Given the description of an element on the screen output the (x, y) to click on. 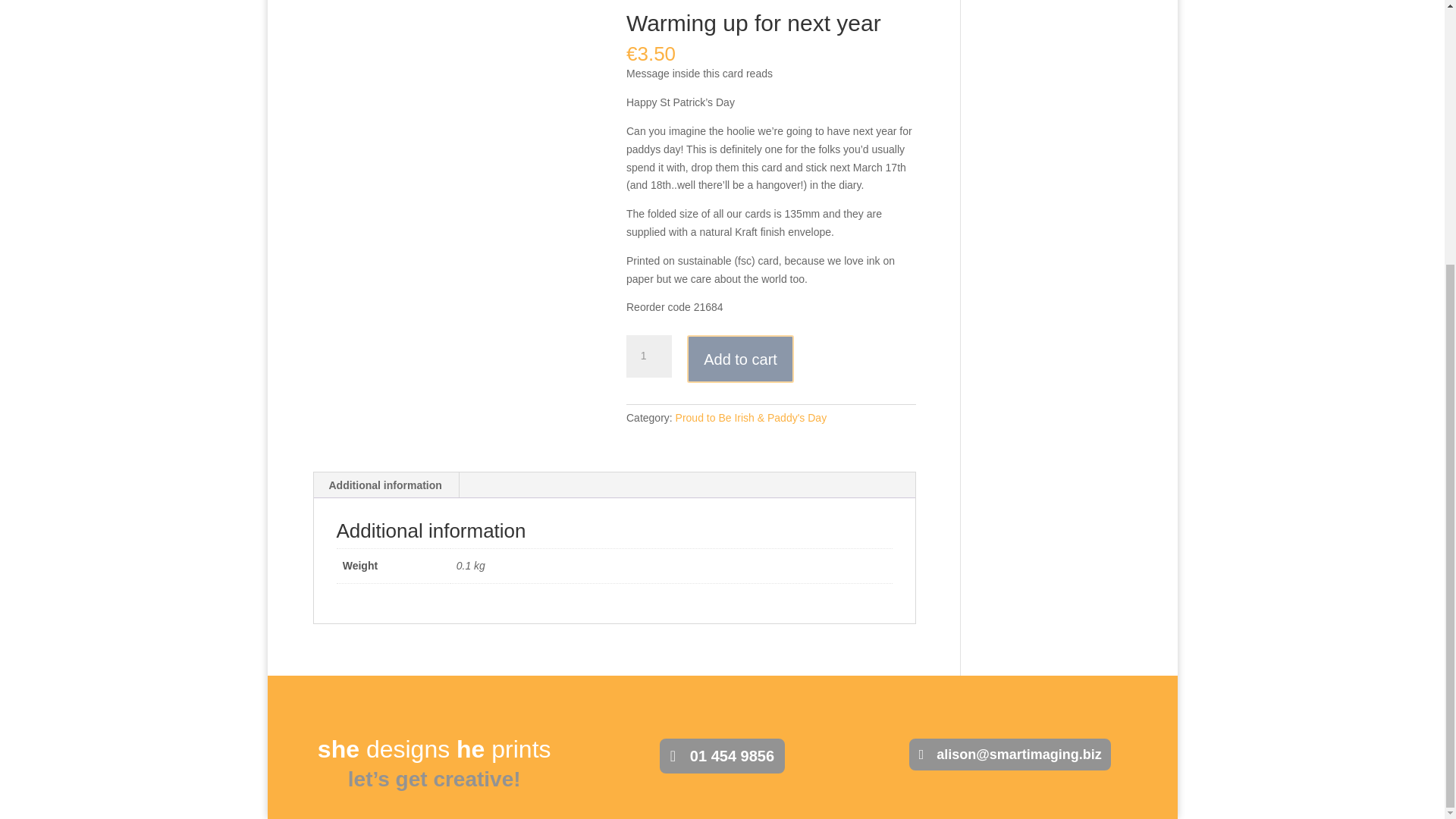
Add to cart (740, 358)
1 (648, 355)
